Given the description of an element on the screen output the (x, y) to click on. 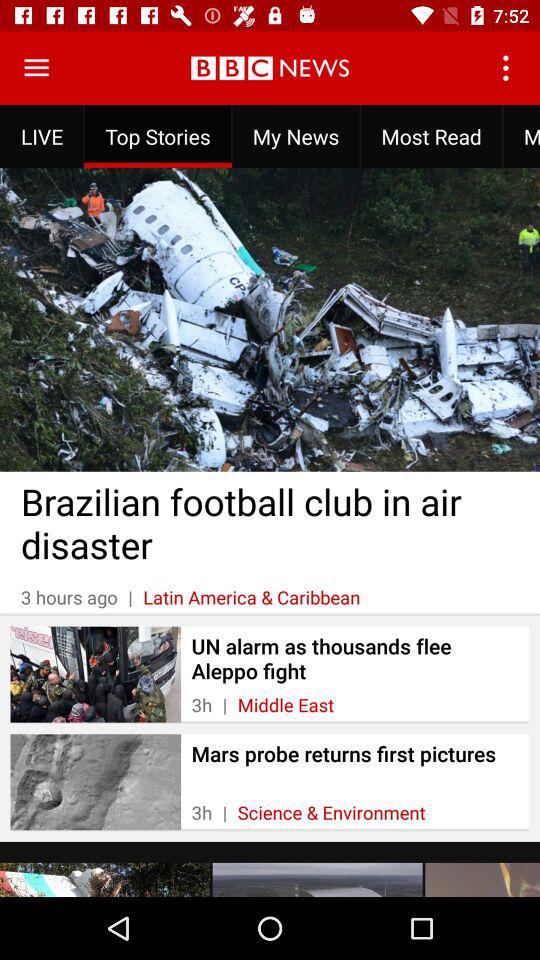
go to menu (36, 68)
